Given the description of an element on the screen output the (x, y) to click on. 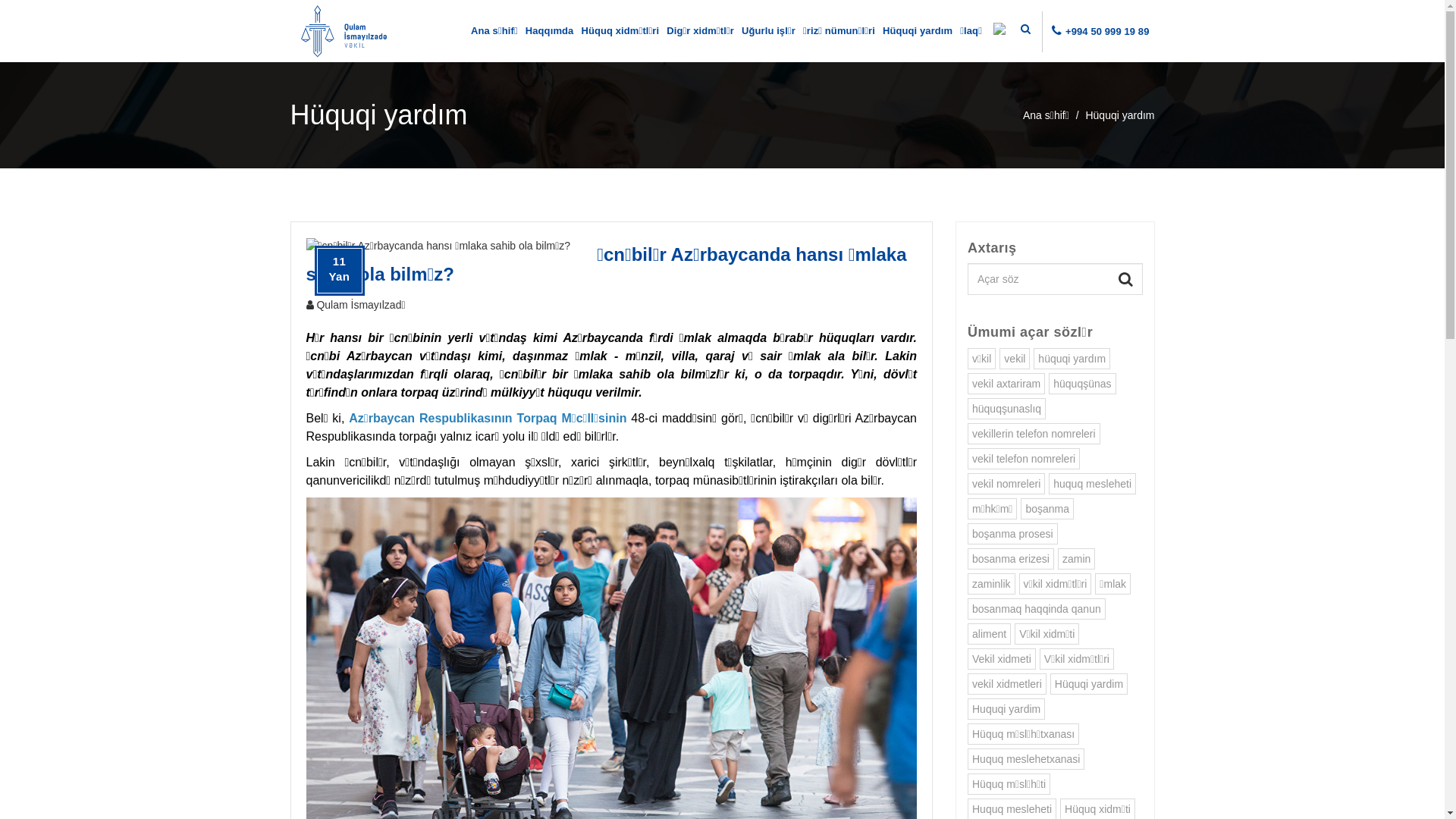
aliment Element type: text (988, 633)
vekil xidmetleri Element type: text (1006, 683)
+994 50 999 19 89 Element type: text (1107, 31)
vekillerin telefon nomreleri Element type: text (1033, 433)
vekil axtariram Element type: text (1005, 383)
huquq mesleheti Element type: text (1091, 483)
Vekil xidmeti Element type: text (1001, 658)
Huquq meslehetxanasi Element type: text (1025, 758)
vekil nomreleri Element type: text (1005, 483)
vekil Element type: text (1014, 358)
zamin Element type: text (1076, 558)
vekil telefon nomreleri Element type: text (1023, 458)
bosanma erizesi Element type: text (1010, 558)
Huquqi yardim Element type: text (1005, 708)
zaminlik Element type: text (991, 583)
bosanmaq haqqinda qanun Element type: text (1036, 608)
